Given the description of an element on the screen output the (x, y) to click on. 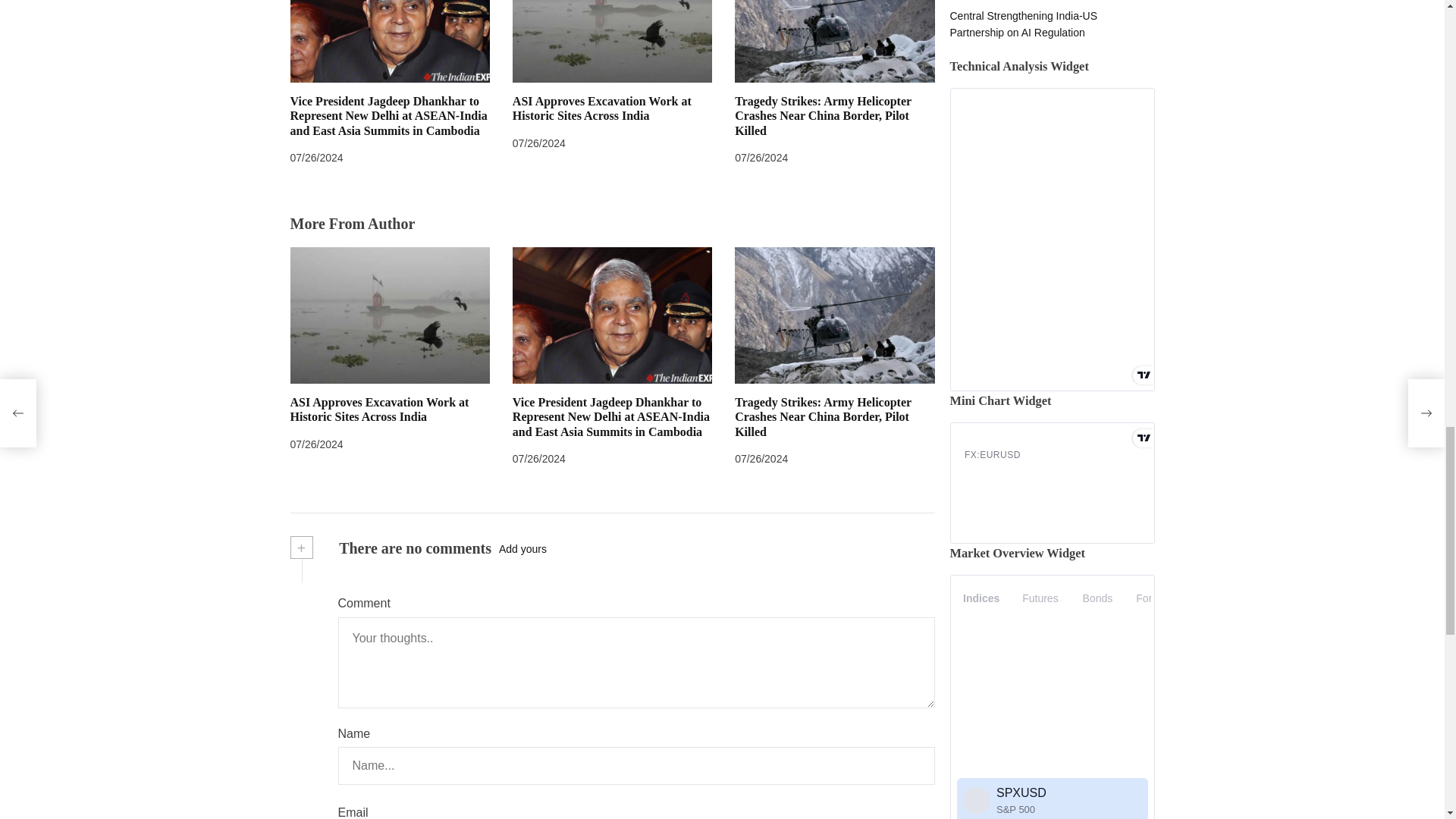
market overview TradingView widget (1051, 28)
